Given the description of an element on the screen output the (x, y) to click on. 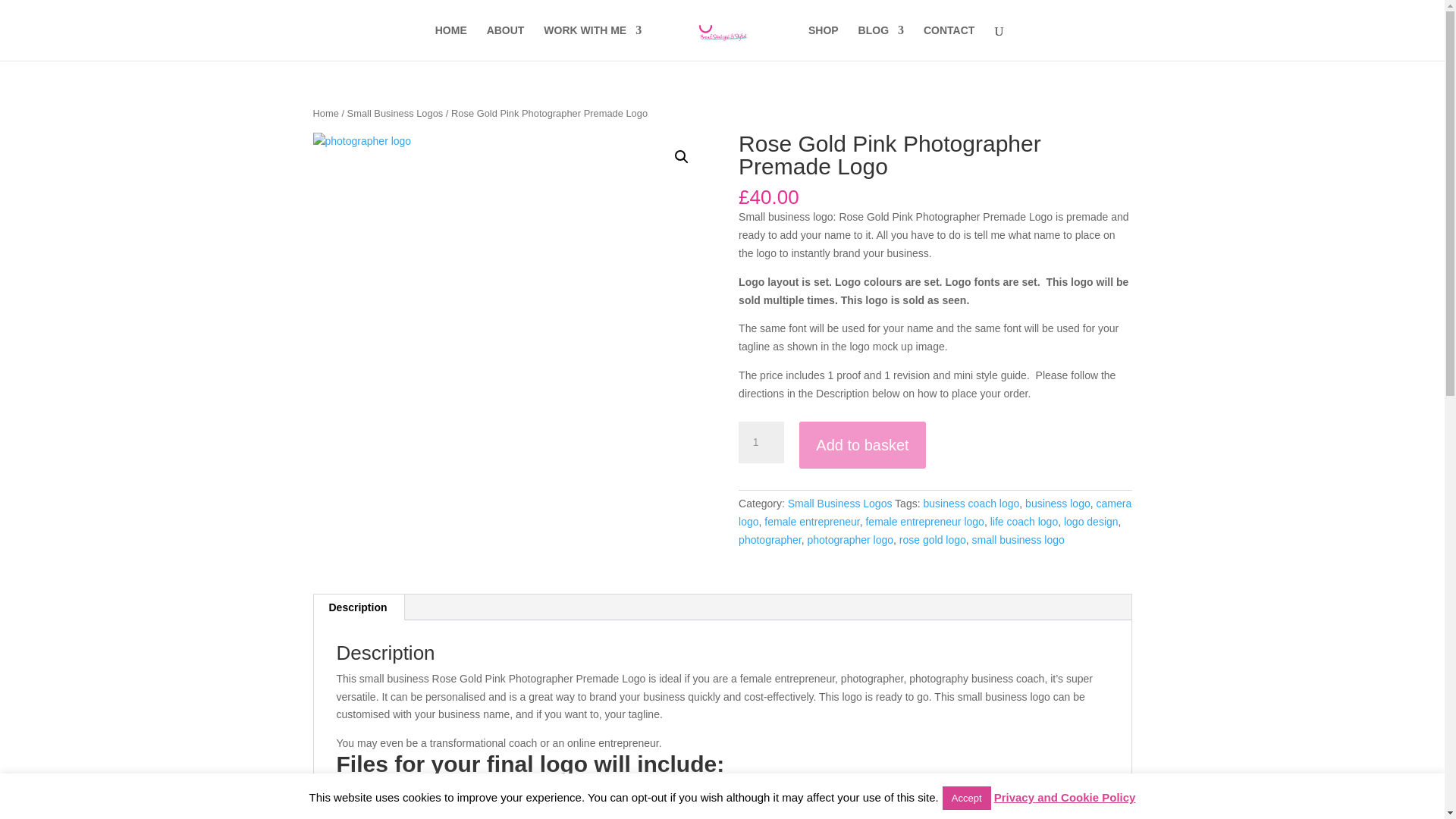
BLOG (881, 42)
Small Business Logos (395, 112)
1 (761, 442)
ABOUT (505, 42)
HOME (451, 42)
business coach logo (971, 503)
Add to basket (861, 445)
Home (325, 112)
Small Business Logos (839, 503)
WORK WITH ME (592, 42)
CONTACT (948, 42)
business logo (1057, 503)
